Given the description of an element on the screen output the (x, y) to click on. 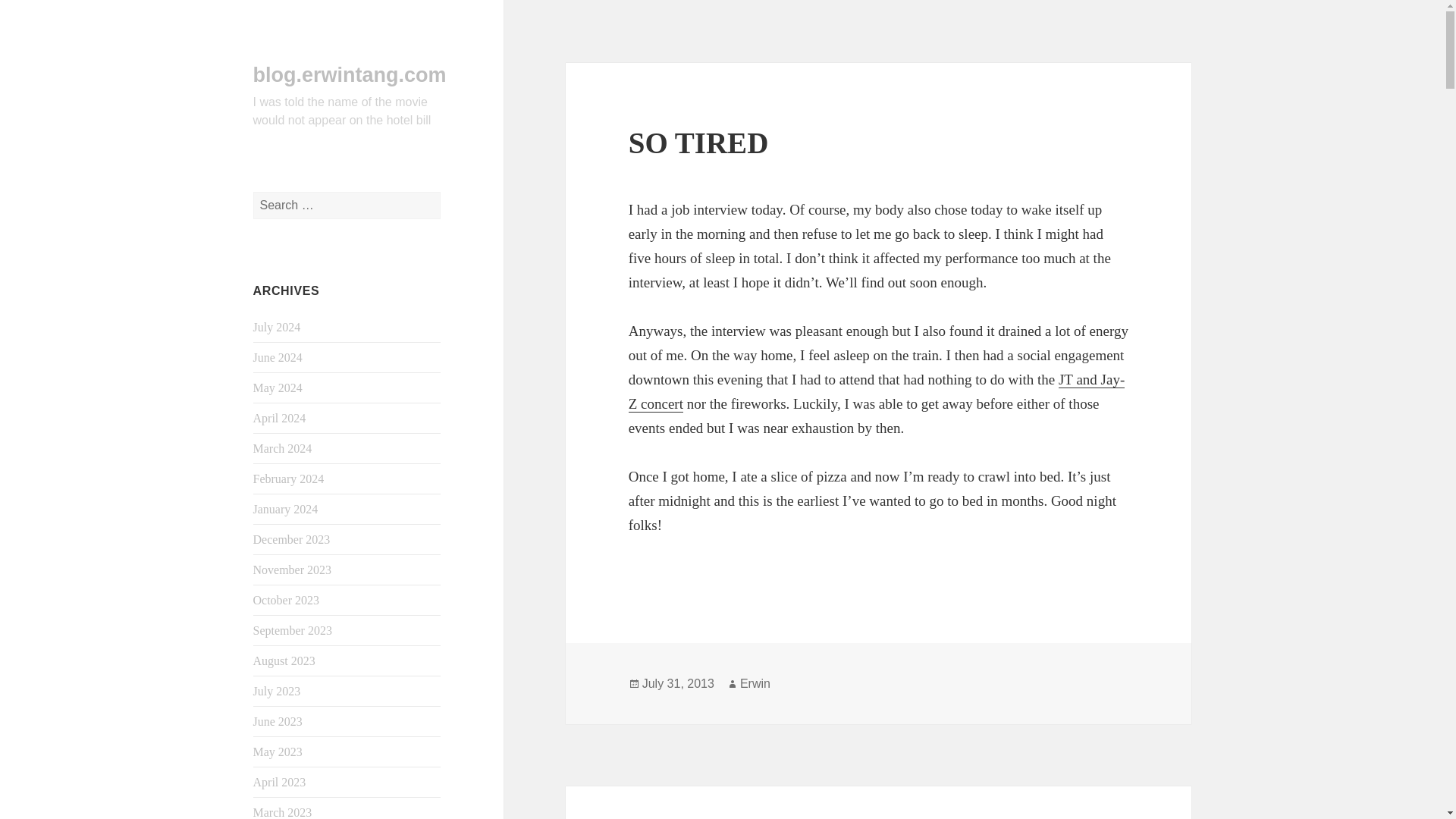
March 2024 (283, 448)
December 2023 (291, 539)
June 2023 (277, 721)
August 2023 (284, 660)
May 2023 (277, 751)
February 2024 (288, 478)
September 2023 (292, 630)
July 2024 (277, 327)
July 2023 (277, 690)
March 2023 (283, 812)
blog.erwintang.com (349, 74)
November 2023 (292, 569)
January 2024 (285, 508)
